Given the description of an element on the screen output the (x, y) to click on. 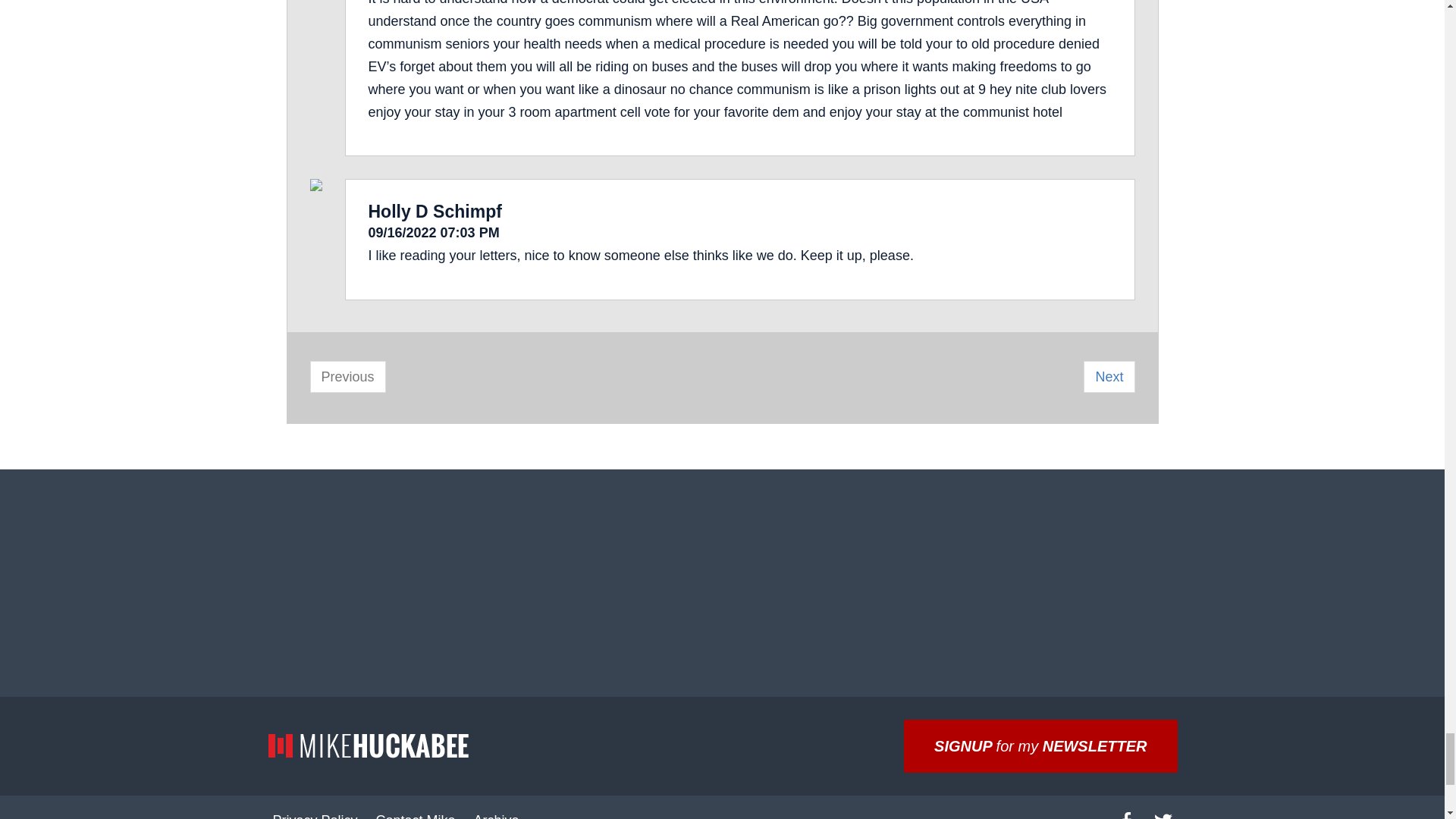
Facebook Icon (1126, 815)
Twitter Icon (1163, 815)
Facebook (1126, 807)
Twitter (1162, 807)
